Given the description of an element on the screen output the (x, y) to click on. 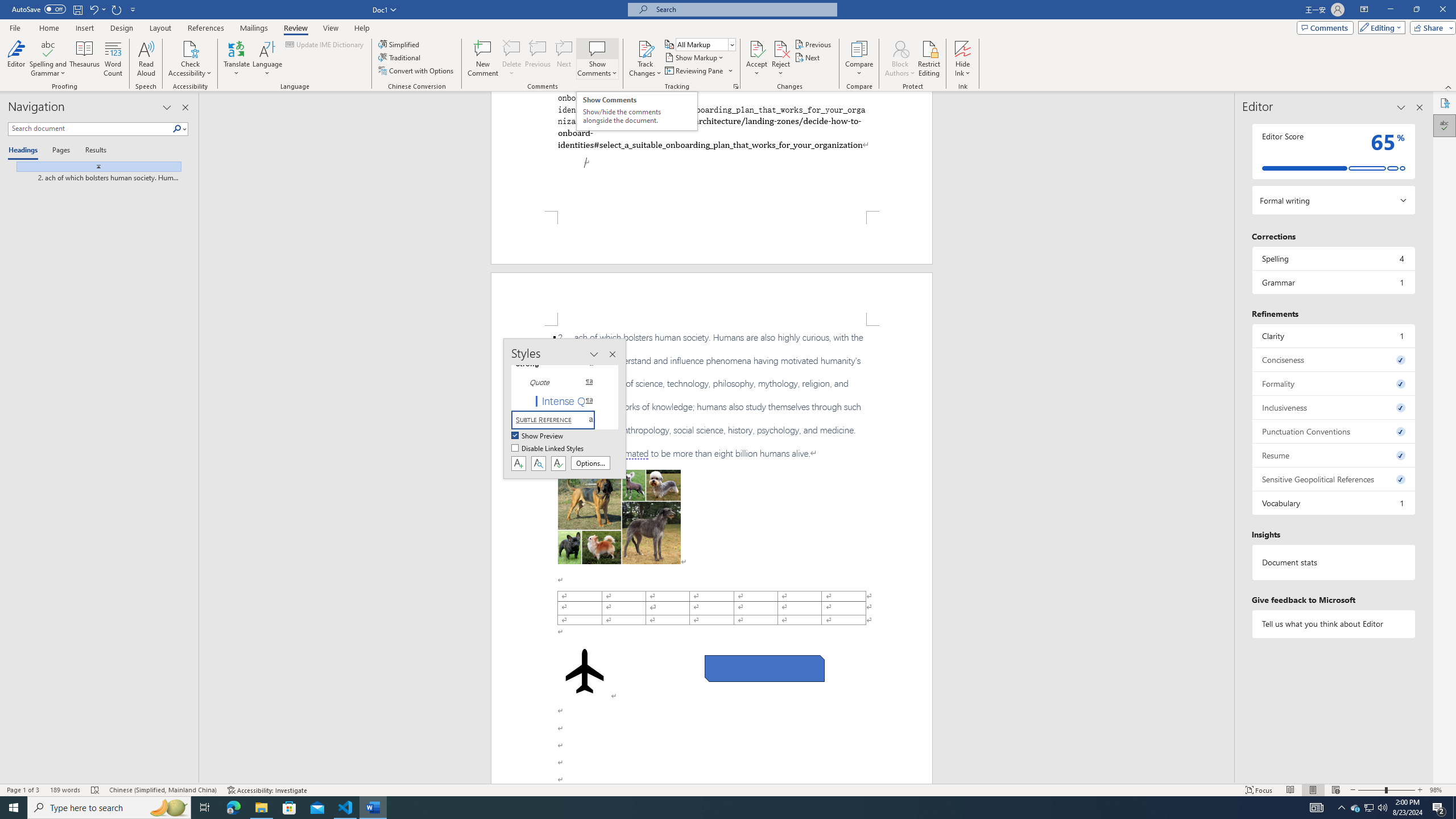
Resume, 0 issues. Press space or enter to review items. (1333, 454)
Hide Ink (962, 48)
Page Number Page 1 of 3 (22, 790)
Page 2 content (711, 554)
Hide Ink (962, 58)
Track Changes (644, 58)
Block Authors (900, 58)
